Given the description of an element on the screen output the (x, y) to click on. 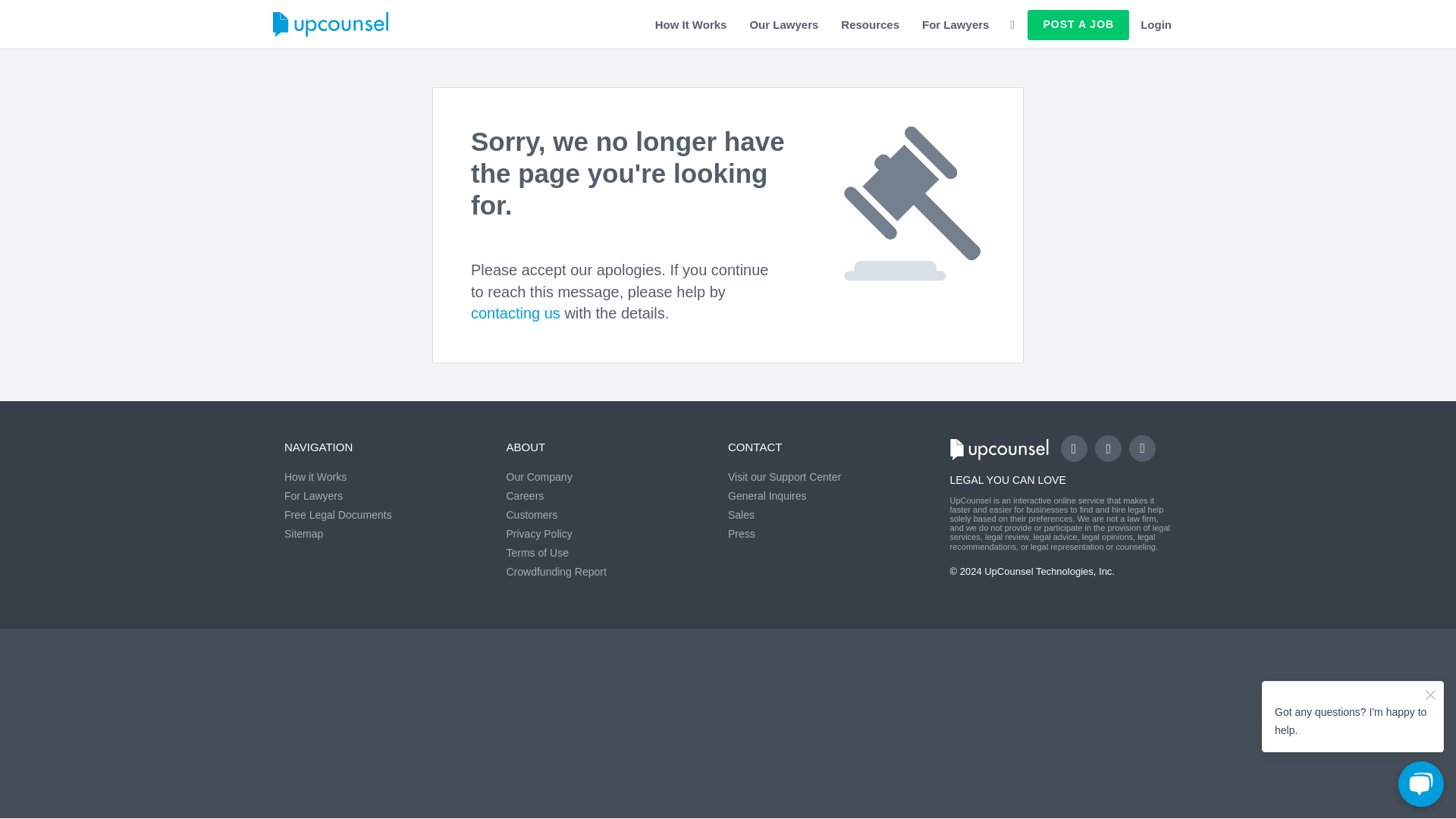
How It Works (690, 24)
Connect with us on LinkedIn (1142, 447)
contacting us (515, 312)
Login (1155, 24)
Our Lawyers (783, 24)
Like us on Facebook (1074, 447)
Sitemap (303, 533)
For Lawyers (955, 24)
Follow us on Twitter (1107, 447)
Resources (870, 24)
